Given the description of an element on the screen output the (x, y) to click on. 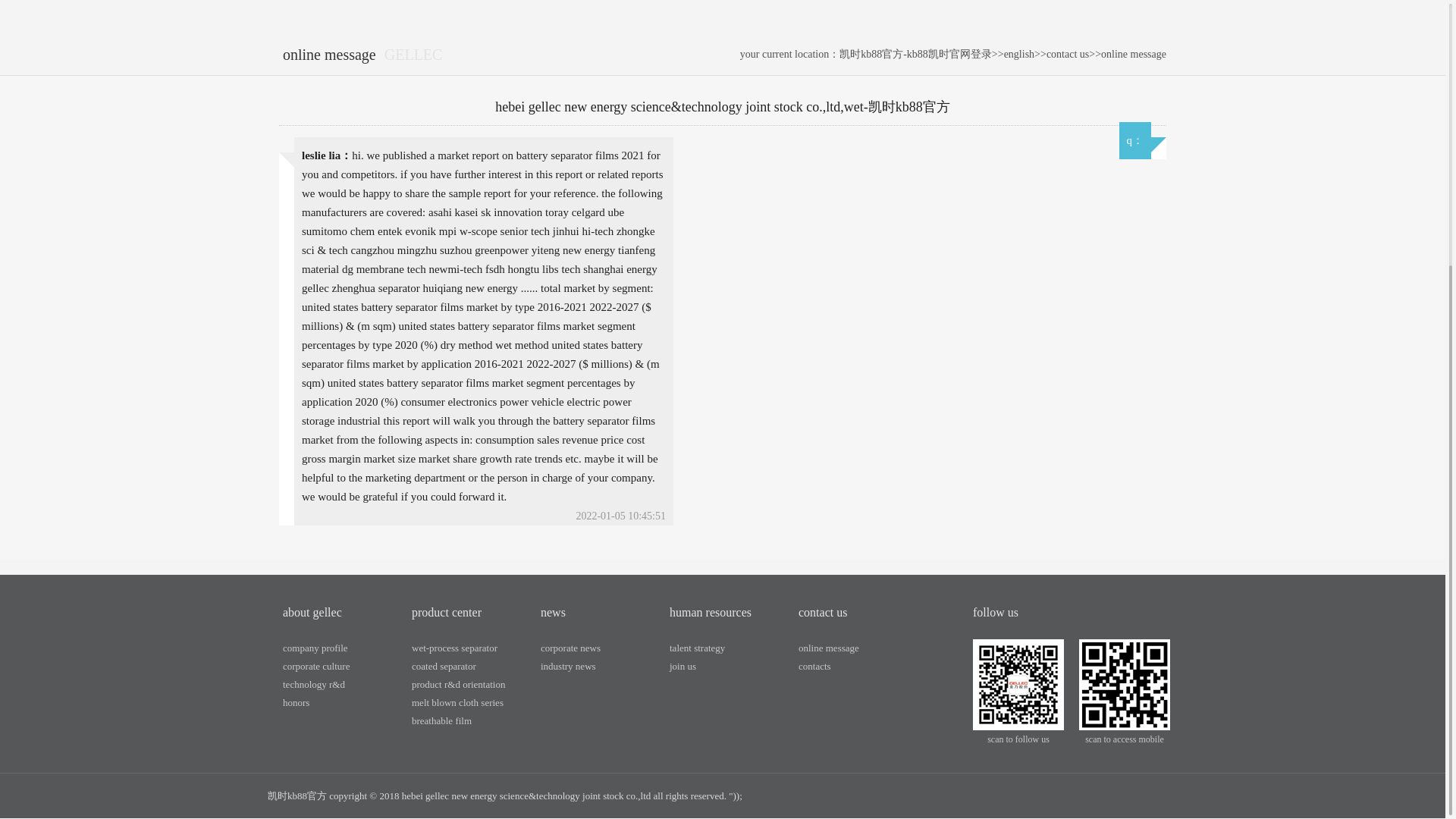
english (1018, 53)
honors (295, 702)
industry news (567, 665)
coated separator (444, 665)
melt blown cloth series (457, 702)
corporate culture (315, 665)
talent strategy (697, 647)
contact us (1067, 53)
wet-process separator (454, 647)
online message (1133, 53)
